Given the description of an element on the screen output the (x, y) to click on. 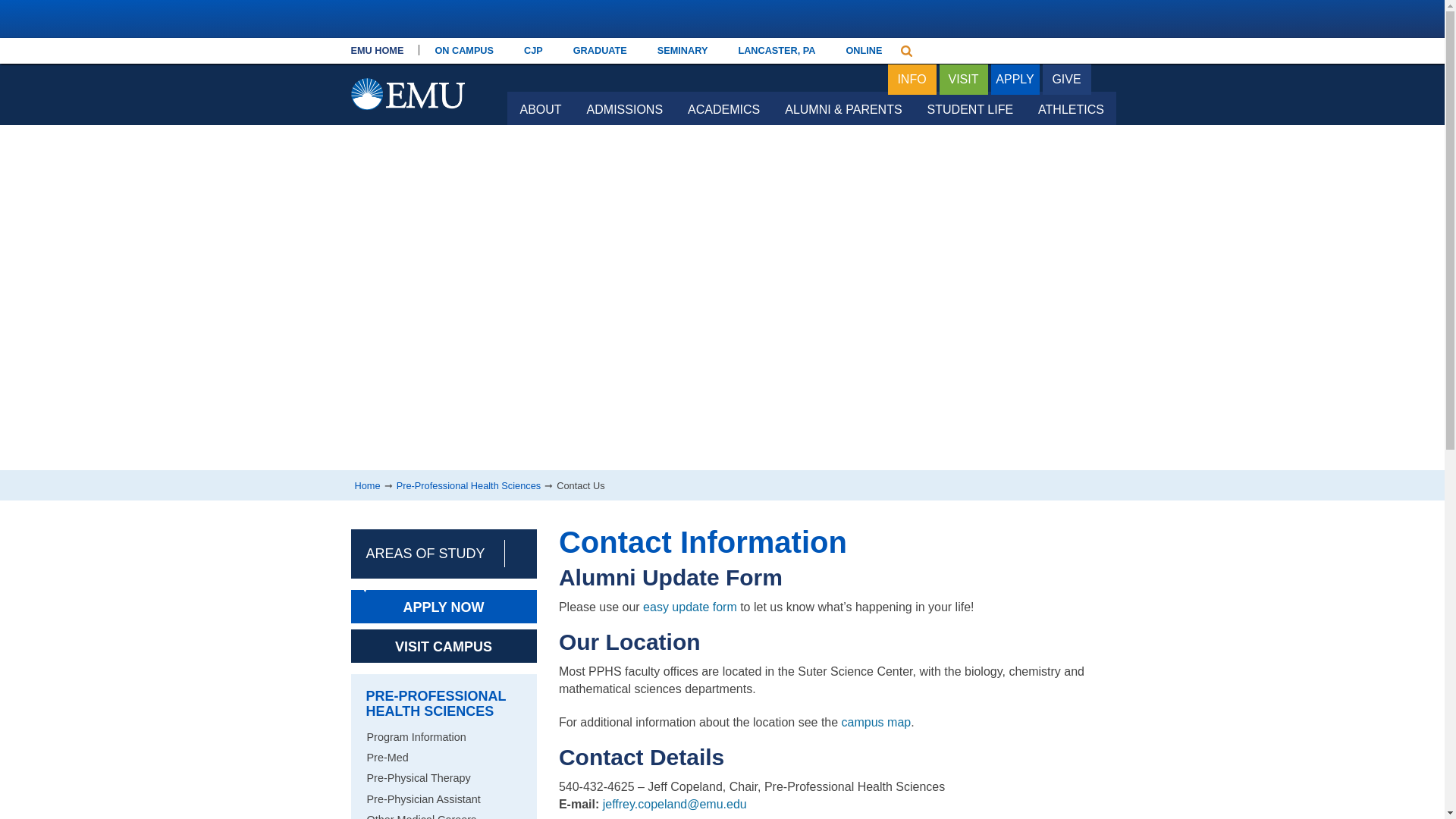
STUDENT LIFE (970, 108)
CJP (532, 50)
Lancaster (775, 50)
Grad Studies (599, 50)
Visit (963, 79)
Skip Navigation (512, 54)
Skip the navigation (512, 54)
Apply (1014, 79)
ACADEMICS (724, 108)
Seminary (682, 50)
